Given the description of an element on the screen output the (x, y) to click on. 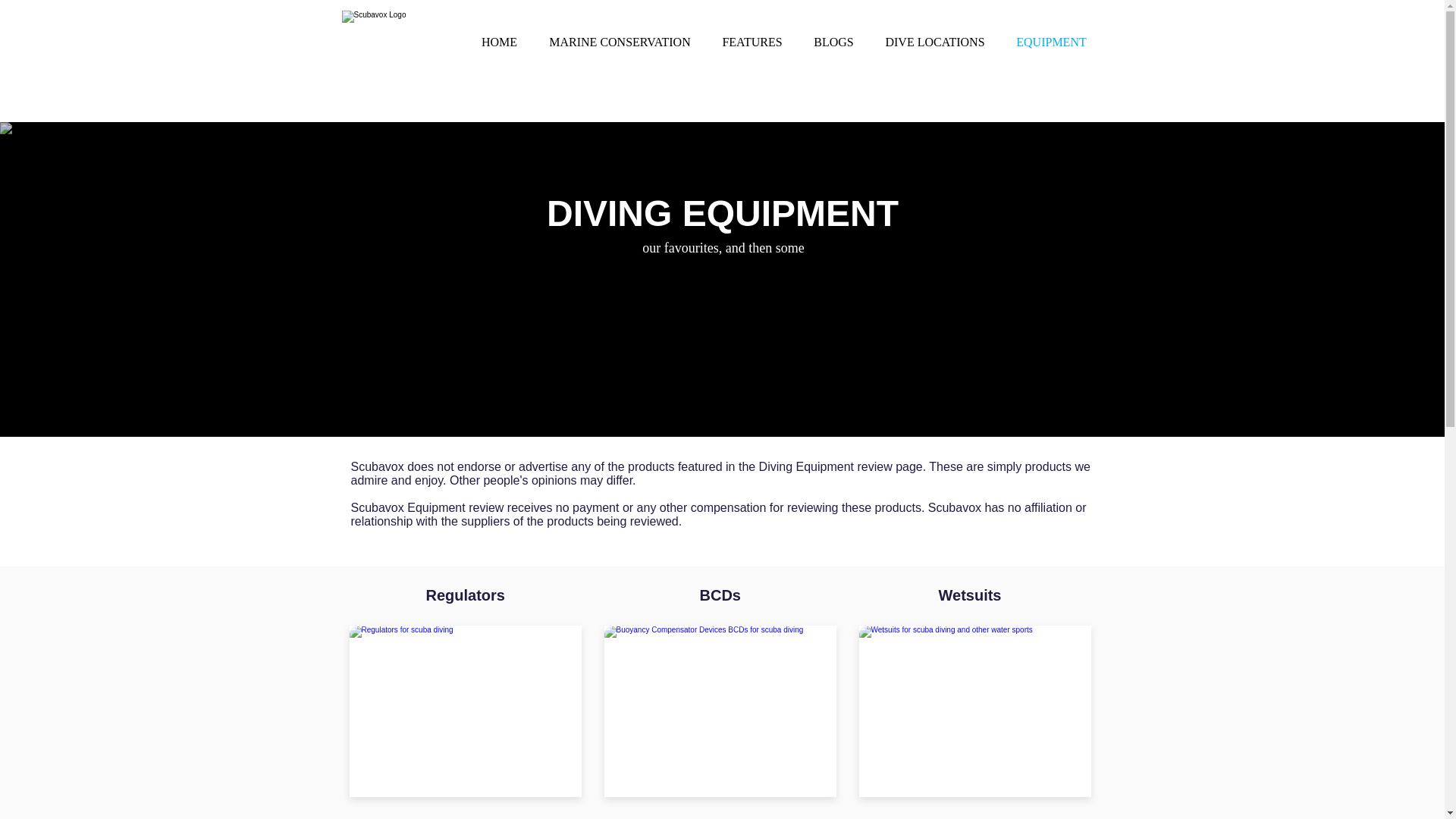
Regulators (465, 592)
FEATURES (751, 42)
DIVE LOCATIONS (934, 42)
EQUIPMENT (1051, 42)
MARINE CONSERVATION (620, 42)
BLOGS (833, 42)
HOME (499, 42)
BCDs (718, 592)
Wetsuits (970, 592)
